Given the description of an element on the screen output the (x, y) to click on. 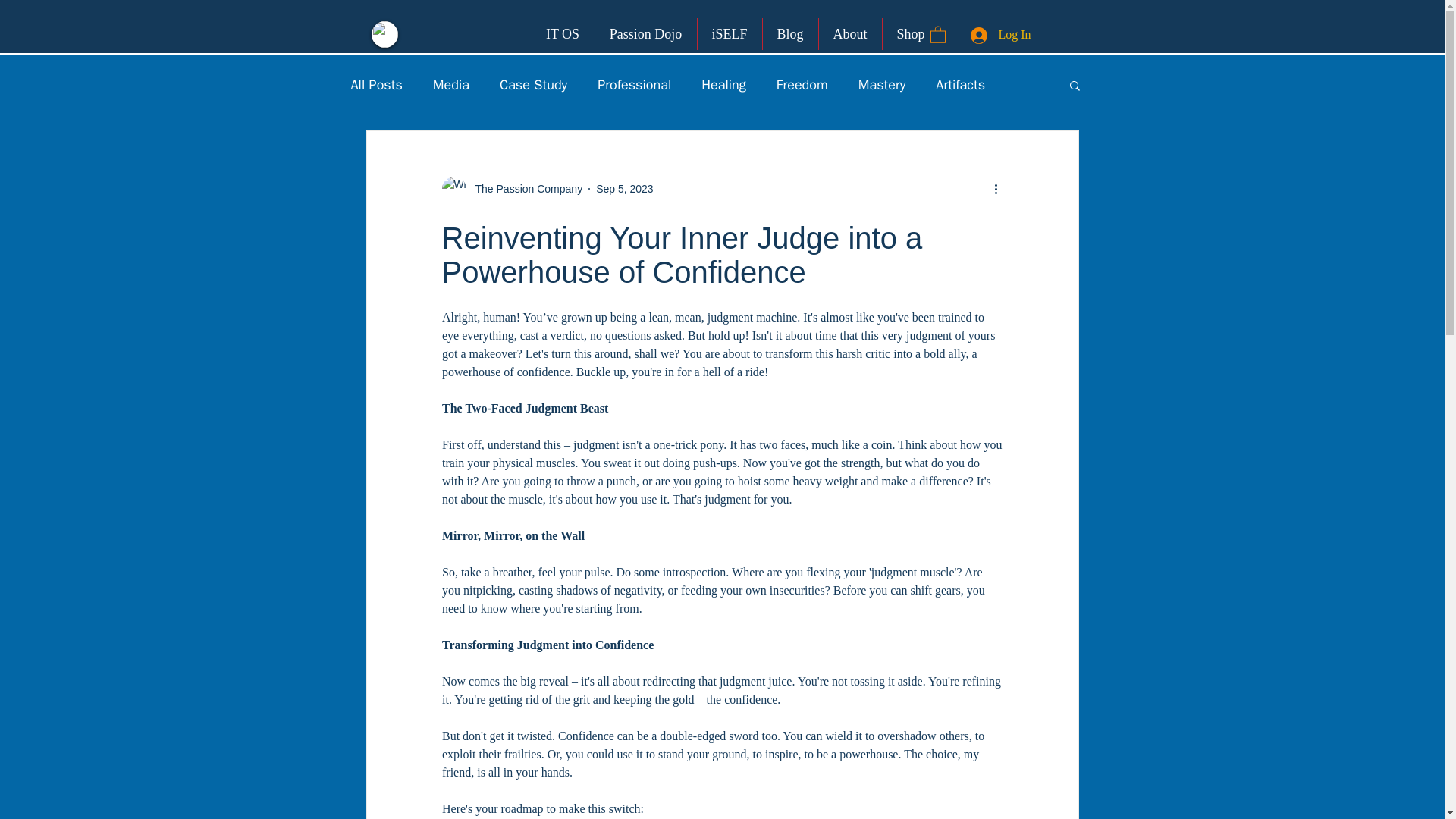
Sep 5, 2023 (624, 187)
All Posts (375, 85)
Mastery (882, 85)
Passion Dojo (644, 33)
IT OS (562, 33)
About (850, 33)
Blog (790, 33)
Shop (910, 33)
Professional (633, 85)
Media (450, 85)
